Given the description of an element on the screen output the (x, y) to click on. 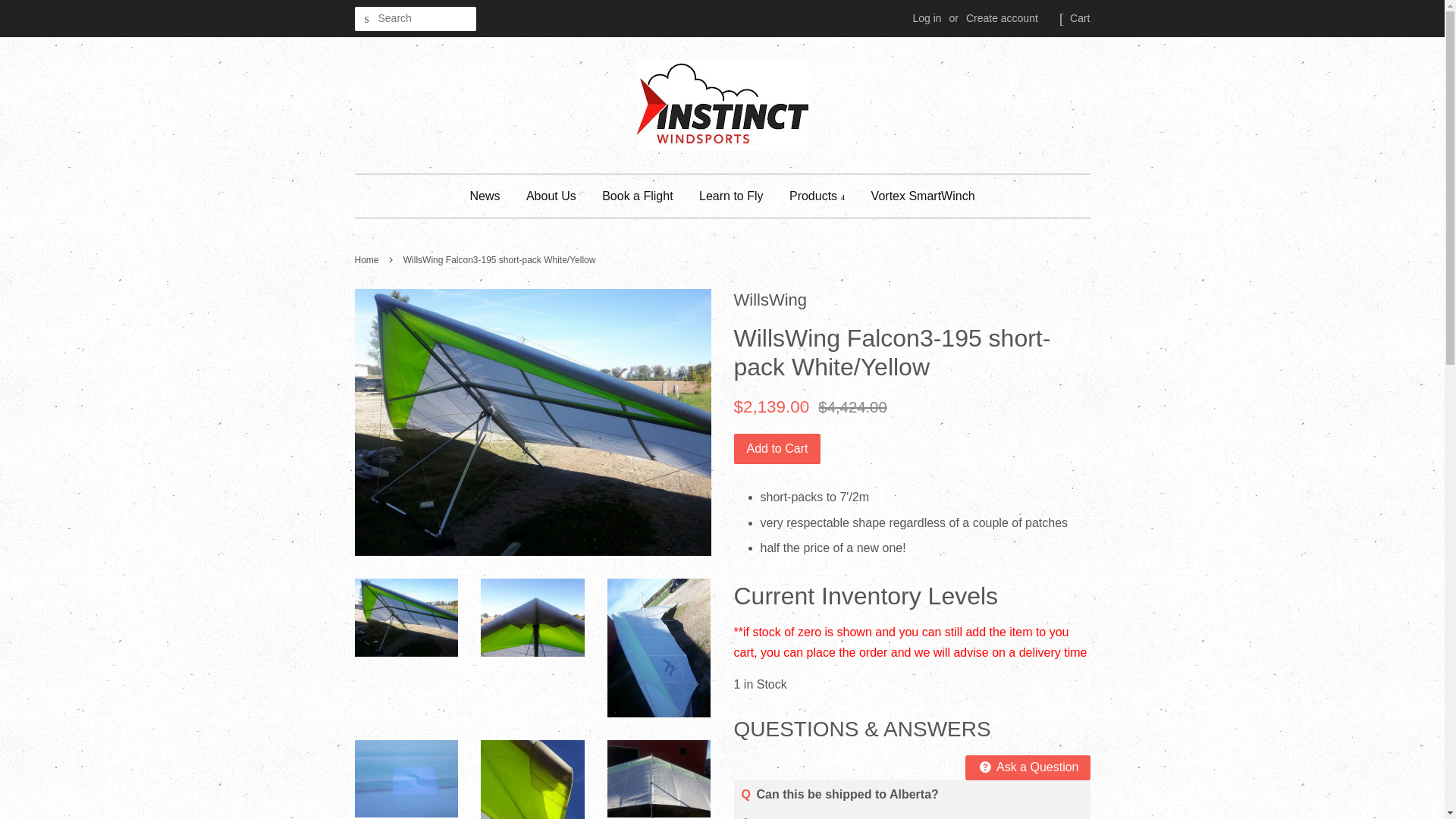
Book a Flight (637, 195)
Back to the frontpage (368, 259)
Products (816, 195)
Learn to Fly (730, 195)
News (489, 195)
Create account (1002, 18)
Log in (927, 18)
Search (366, 18)
About Us (551, 195)
Cart (1079, 18)
